Given the description of an element on the screen output the (x, y) to click on. 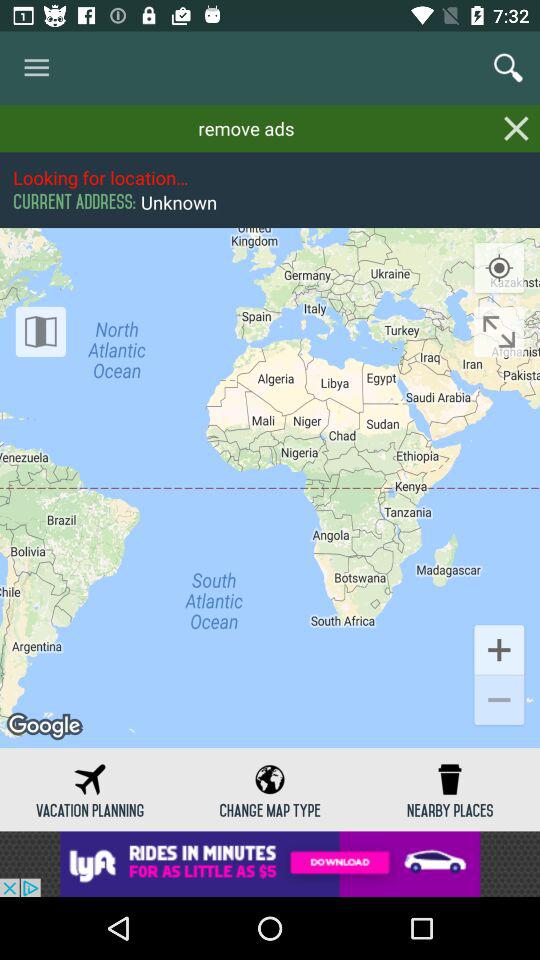
close remove the advertisements (516, 128)
